Given the description of an element on the screen output the (x, y) to click on. 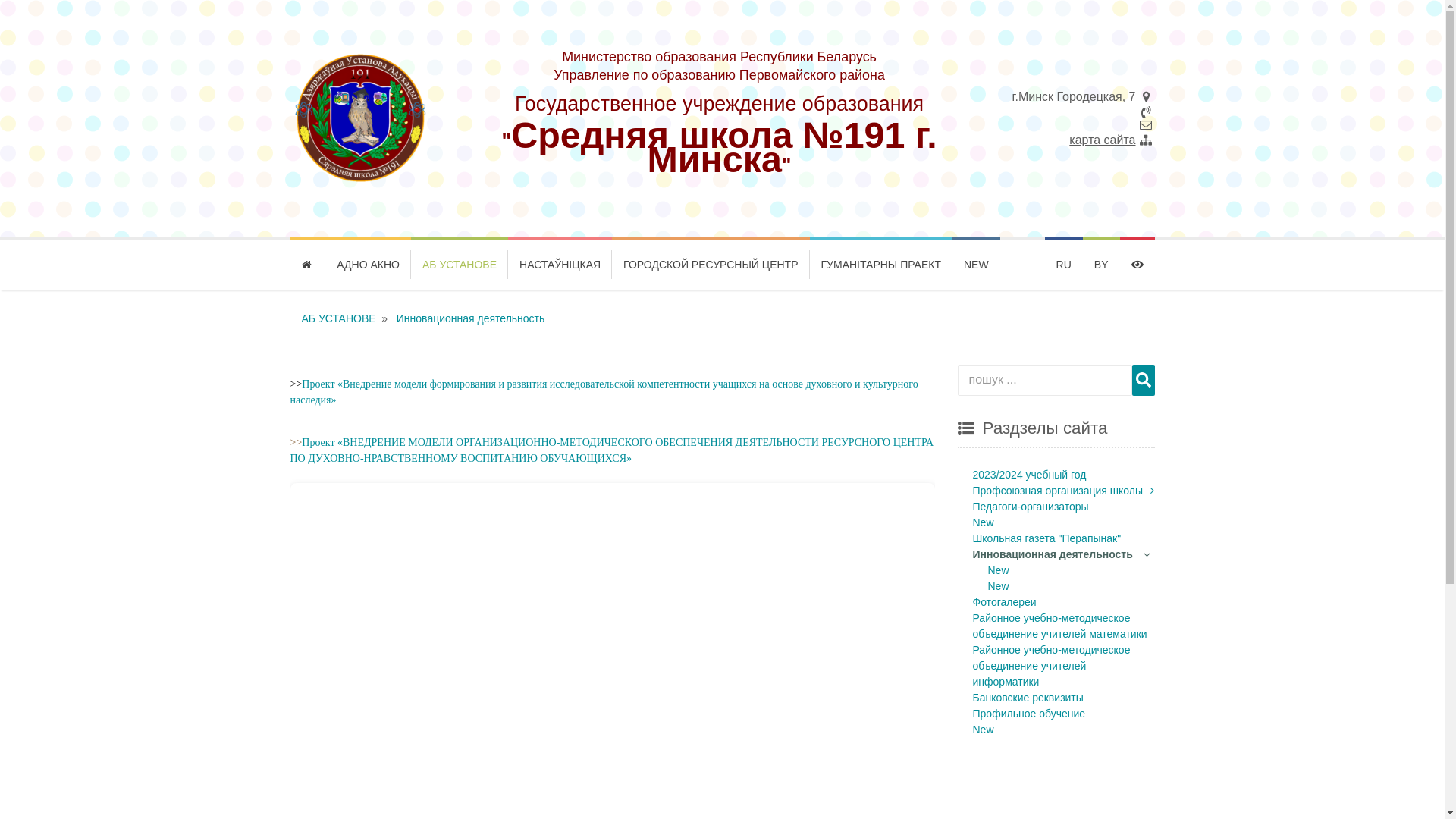
RU Element type: text (1063, 264)
New Element type: text (997, 570)
BY Element type: text (1101, 264)
New Element type: text (982, 729)
New Element type: text (982, 522)
NEW Element type: text (976, 264)
New Element type: text (997, 586)
